Given the description of an element on the screen output the (x, y) to click on. 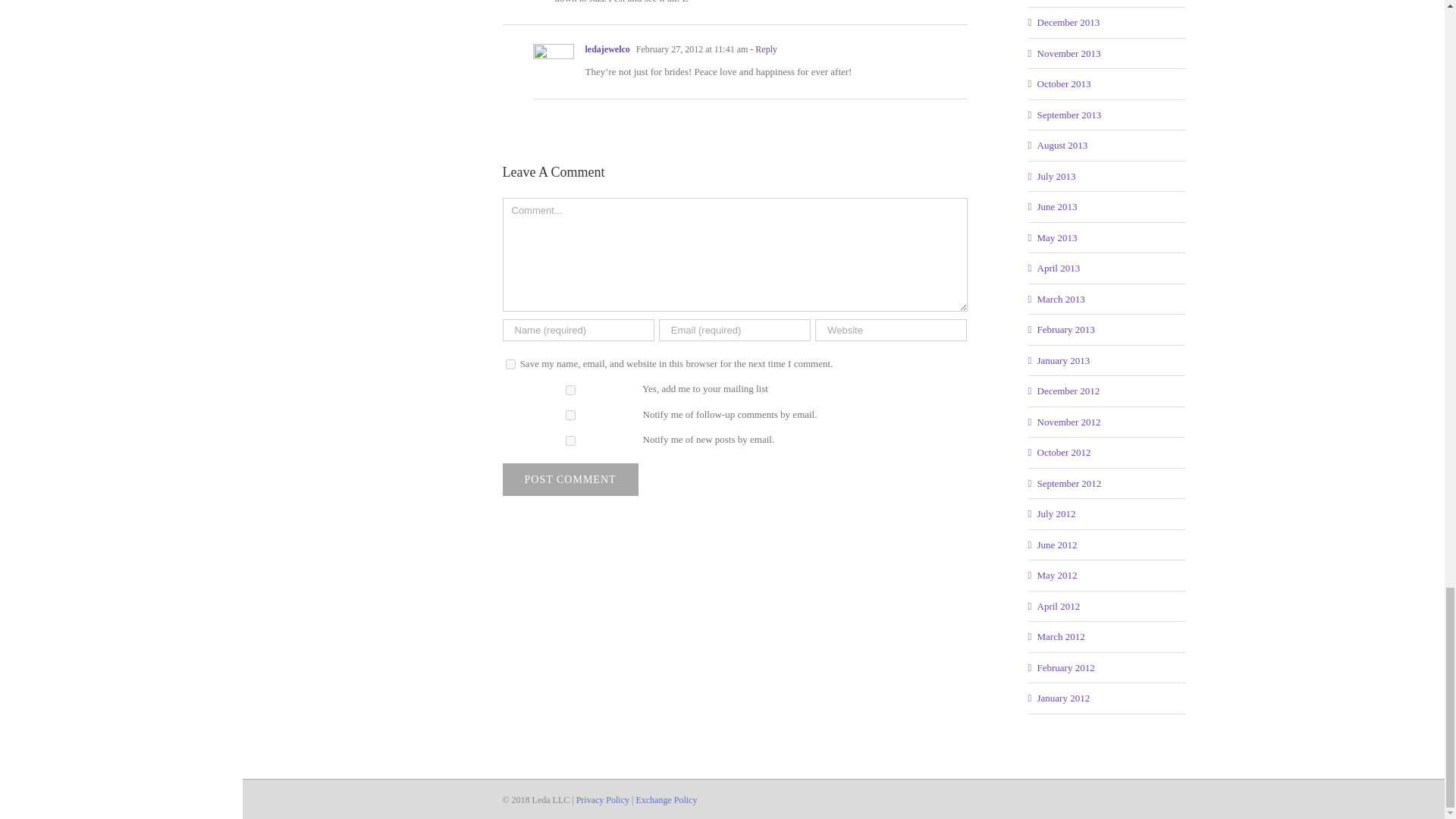
Post Comment (569, 479)
1 (569, 389)
subscribe (569, 440)
yes (510, 364)
subscribe (569, 415)
